Given the description of an element on the screen output the (x, y) to click on. 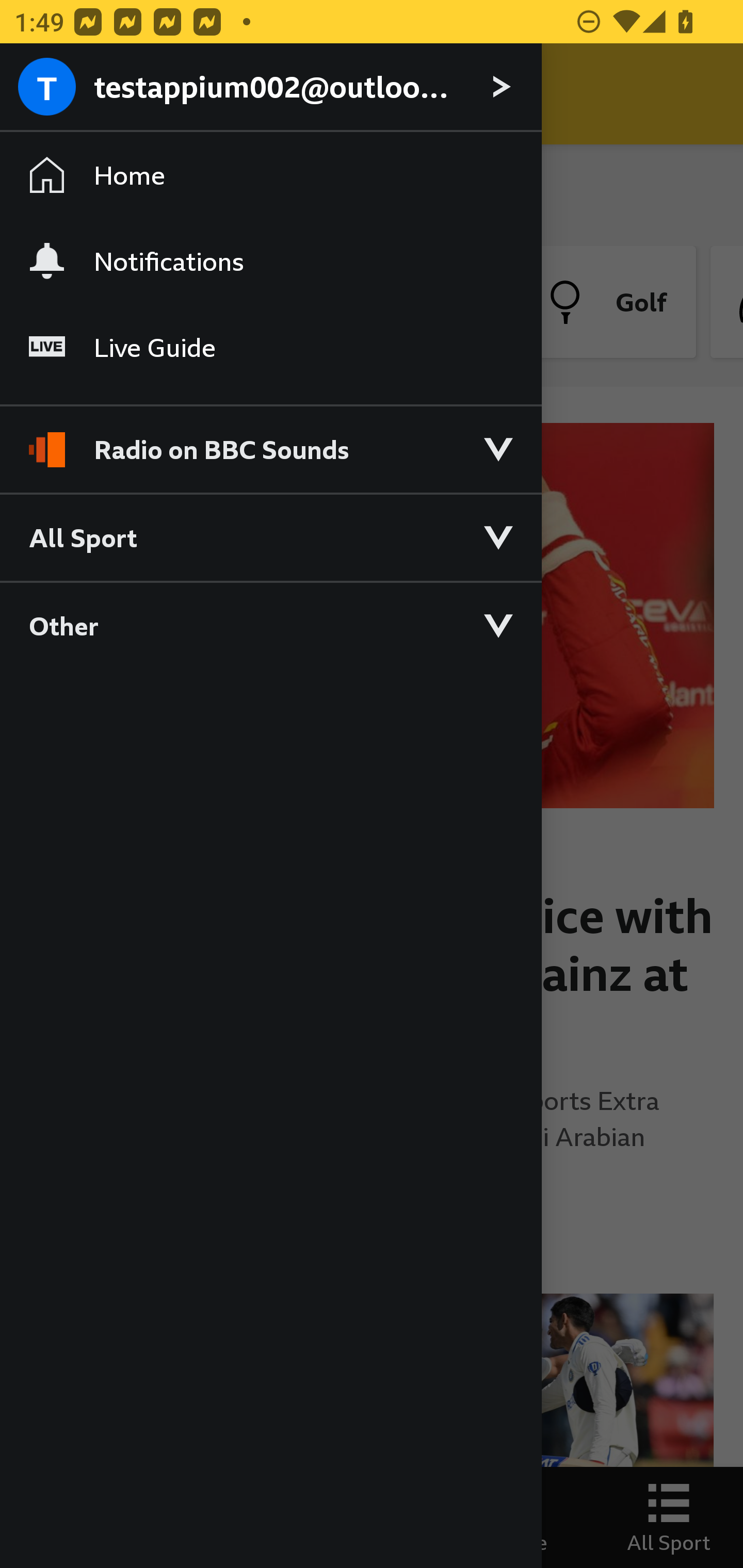
Close Menu (50, 93)
testappium002@outlook.com (270, 87)
Home (270, 174)
Notifications (270, 260)
Live Guide (270, 347)
Radio on BBC Sounds (270, 441)
All Sport (270, 536)
Other (270, 624)
